Given the description of an element on the screen output the (x, y) to click on. 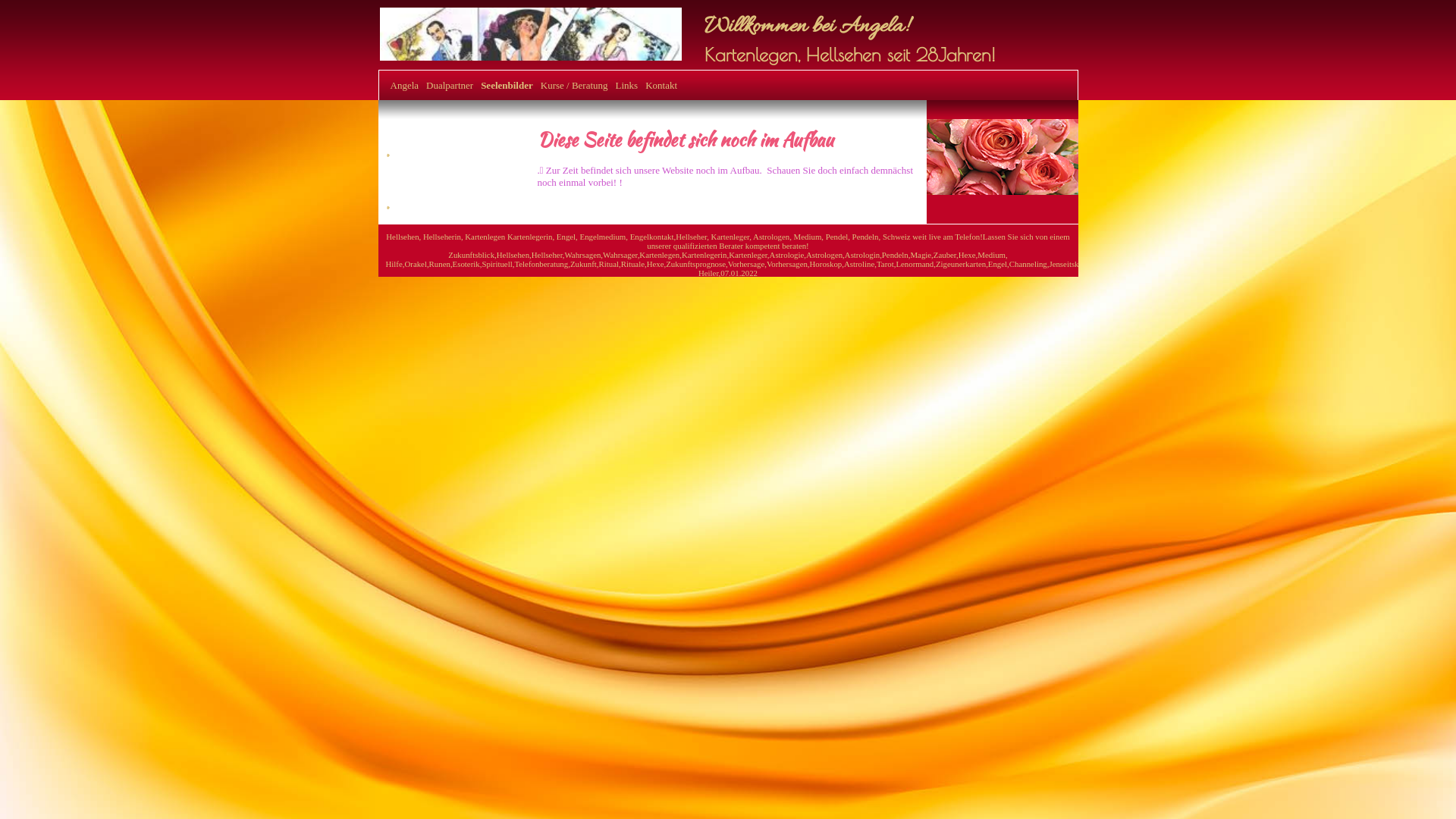
Seelenbilder Element type: text (506, 85)
Kurse / Beratung Element type: text (574, 85)
Links Element type: text (626, 85)
Dualpartner Element type: text (449, 85)
Angela Element type: text (403, 85)
Kontakt Element type: text (661, 85)
